Given the description of an element on the screen output the (x, y) to click on. 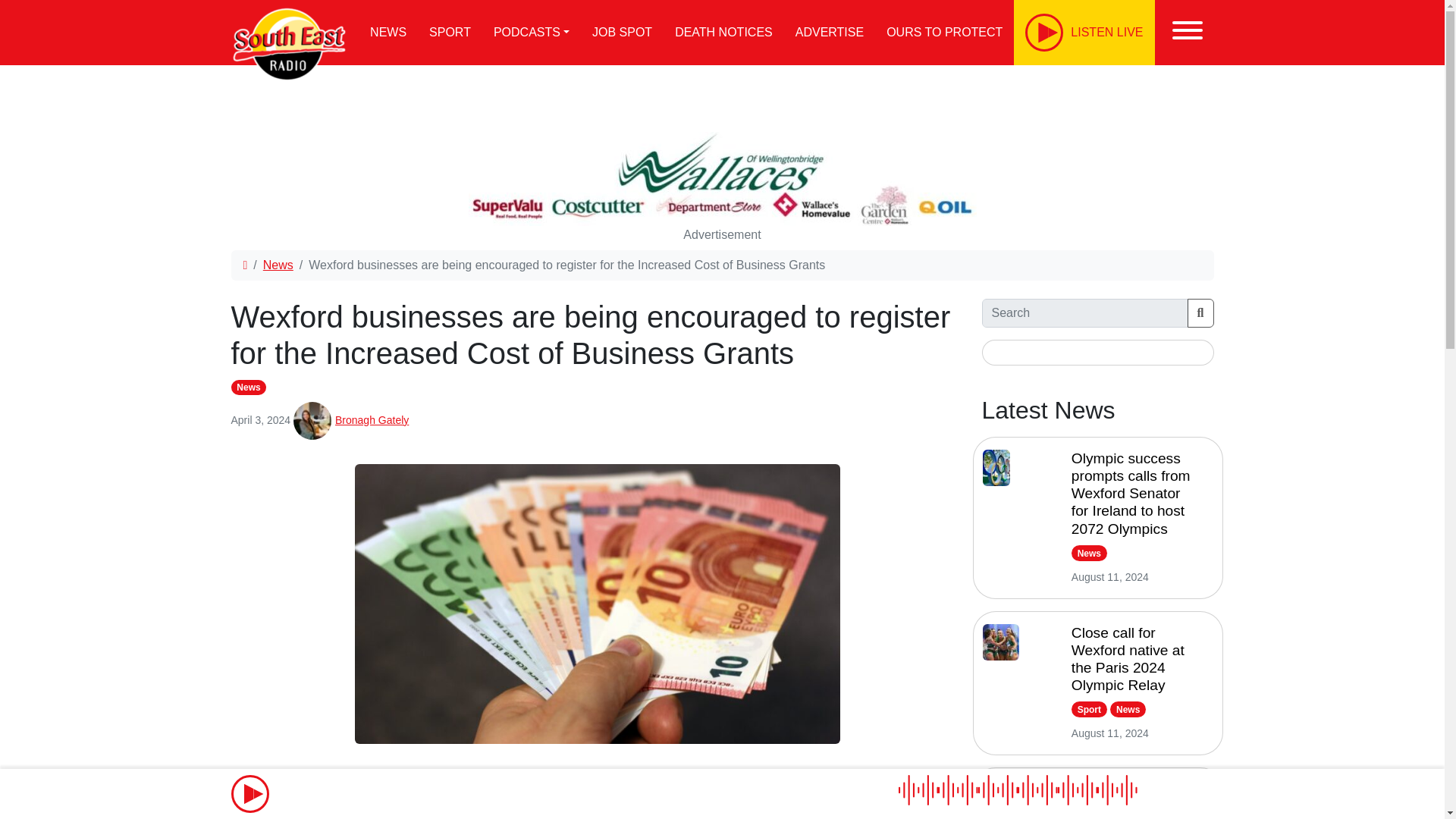
JOB SPOT (621, 32)
PODCASTS (530, 32)
OURS TO PROTECT (944, 32)
Bronagh Gately (371, 419)
DEATH NOTICES (723, 32)
SPORT (449, 32)
ADVERTISE (829, 32)
News (248, 387)
NEWS (387, 32)
News (278, 264)
